Given the description of an element on the screen output the (x, y) to click on. 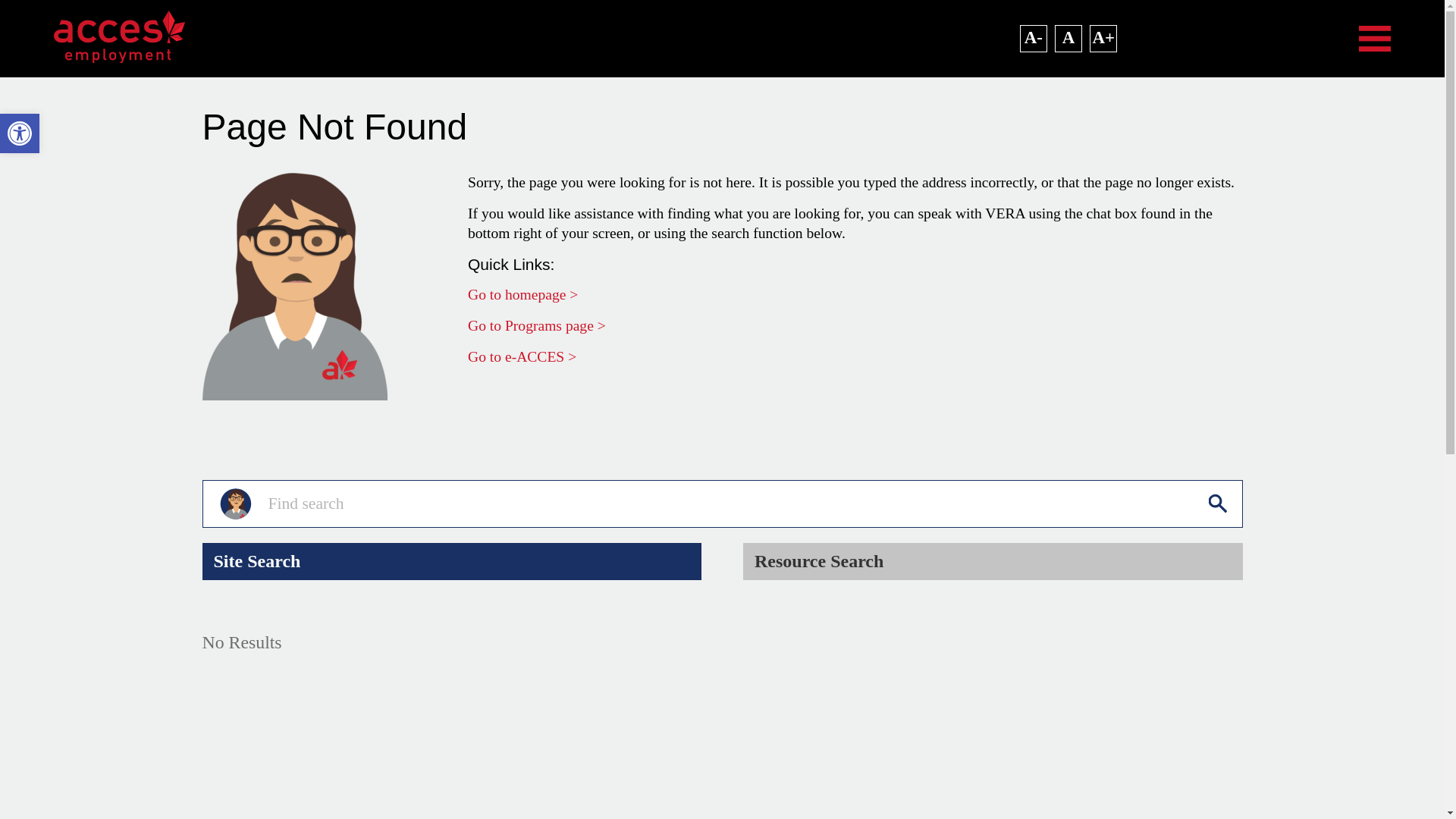
Go to e-ACCES > Element type: text (521, 356)
Go to Programs page > Element type: text (536, 325)
Go to homepage > Element type: text (522, 294)
Open toolbar Element type: text (19, 133)
